Given the description of an element on the screen output the (x, y) to click on. 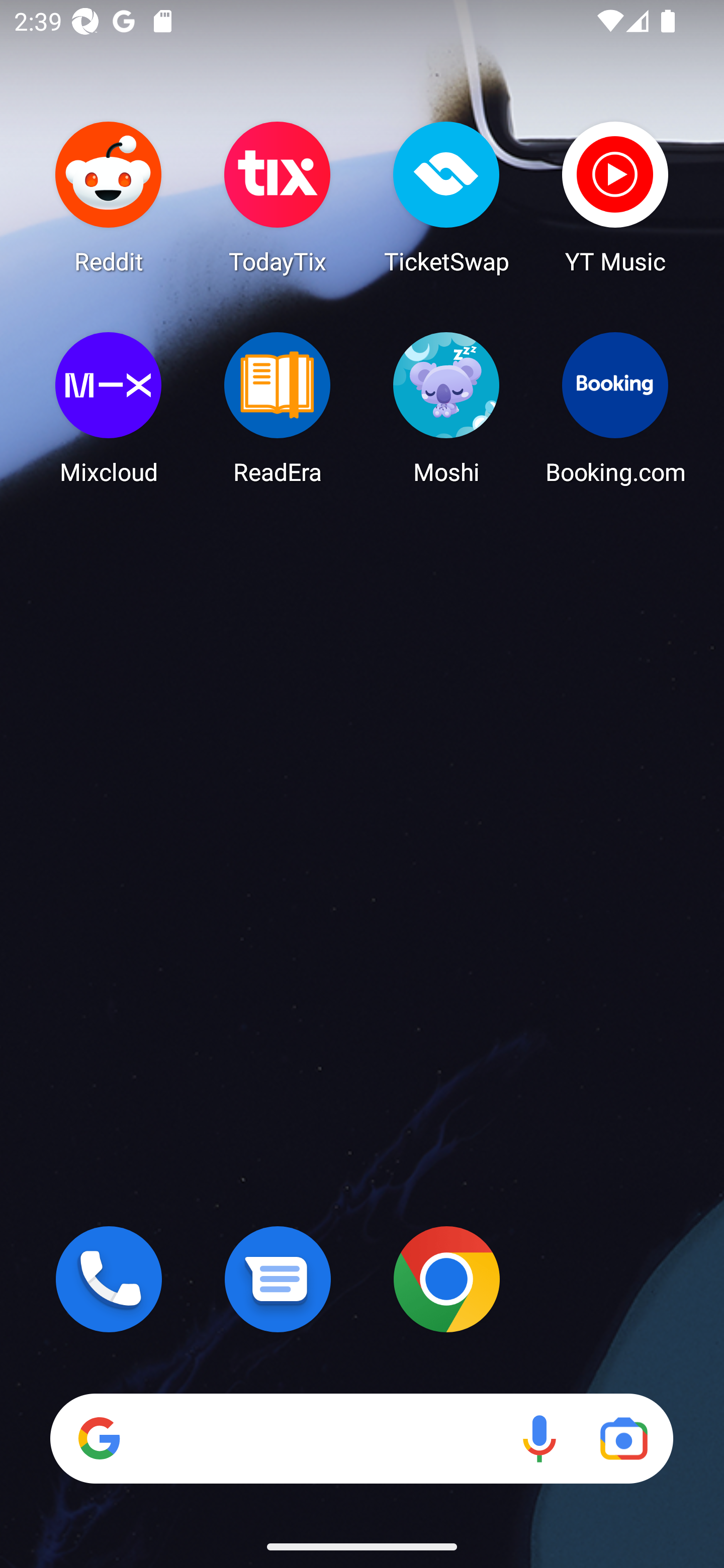
Reddit (108, 196)
TodayTix (277, 196)
TicketSwap (445, 196)
YT Music (615, 196)
Mixcloud (108, 407)
ReadEra (277, 407)
Moshi (445, 407)
Booking.com (615, 407)
Phone (108, 1279)
Messages (277, 1279)
Chrome (446, 1279)
Search Voice search Google Lens (361, 1438)
Voice search (539, 1438)
Google Lens (623, 1438)
